Given the description of an element on the screen output the (x, y) to click on. 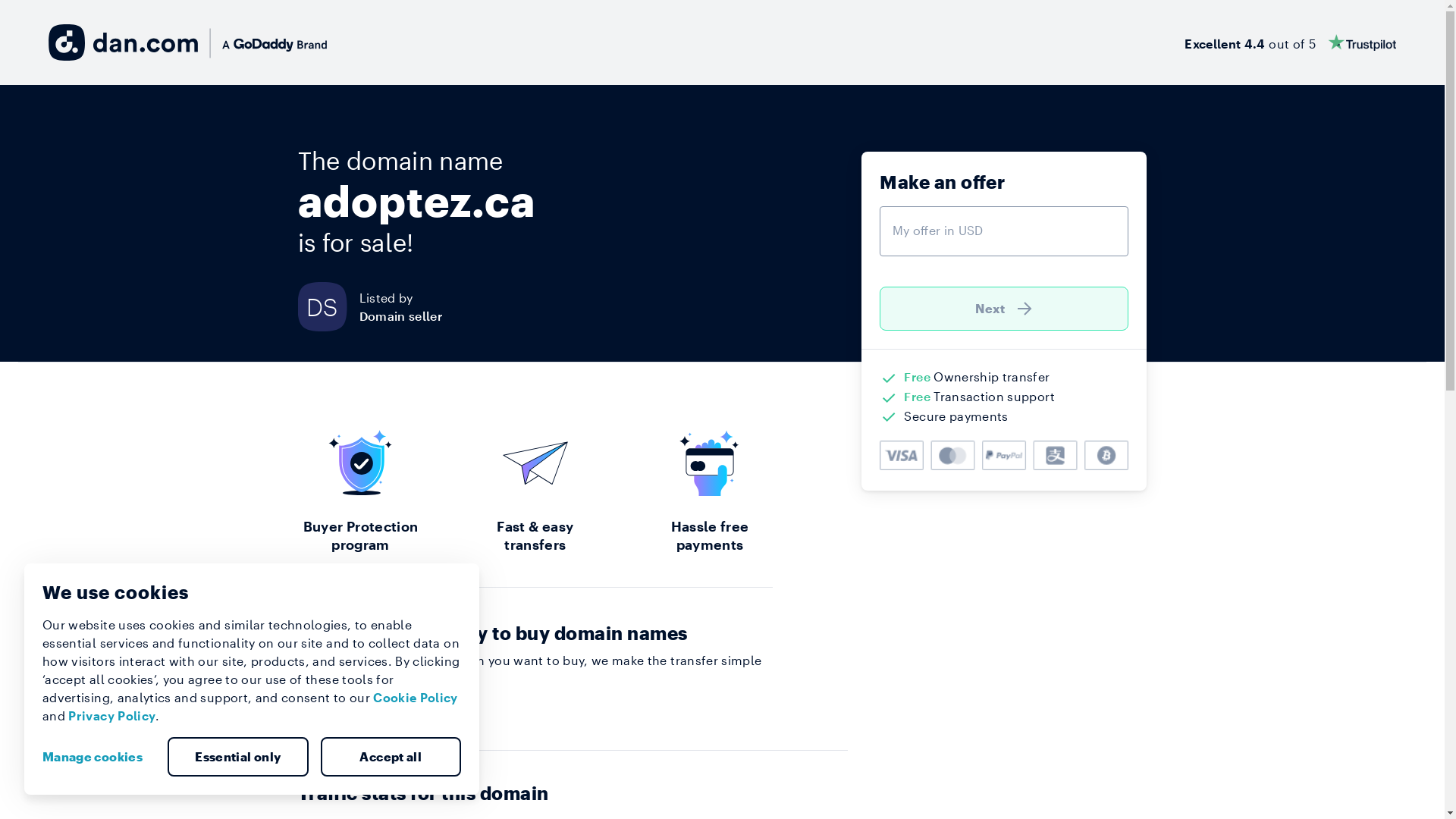
Next
) Element type: text (1003, 308)
Manage cookies Element type: text (98, 756)
Essential only Element type: text (237, 756)
DS Element type: text (327, 306)
Privacy Policy Element type: text (111, 715)
Accept all Element type: text (390, 756)
Cookie Policy Element type: text (415, 697)
Excellent 4.4 out of 5 Element type: text (1290, 42)
